Given the description of an element on the screen output the (x, y) to click on. 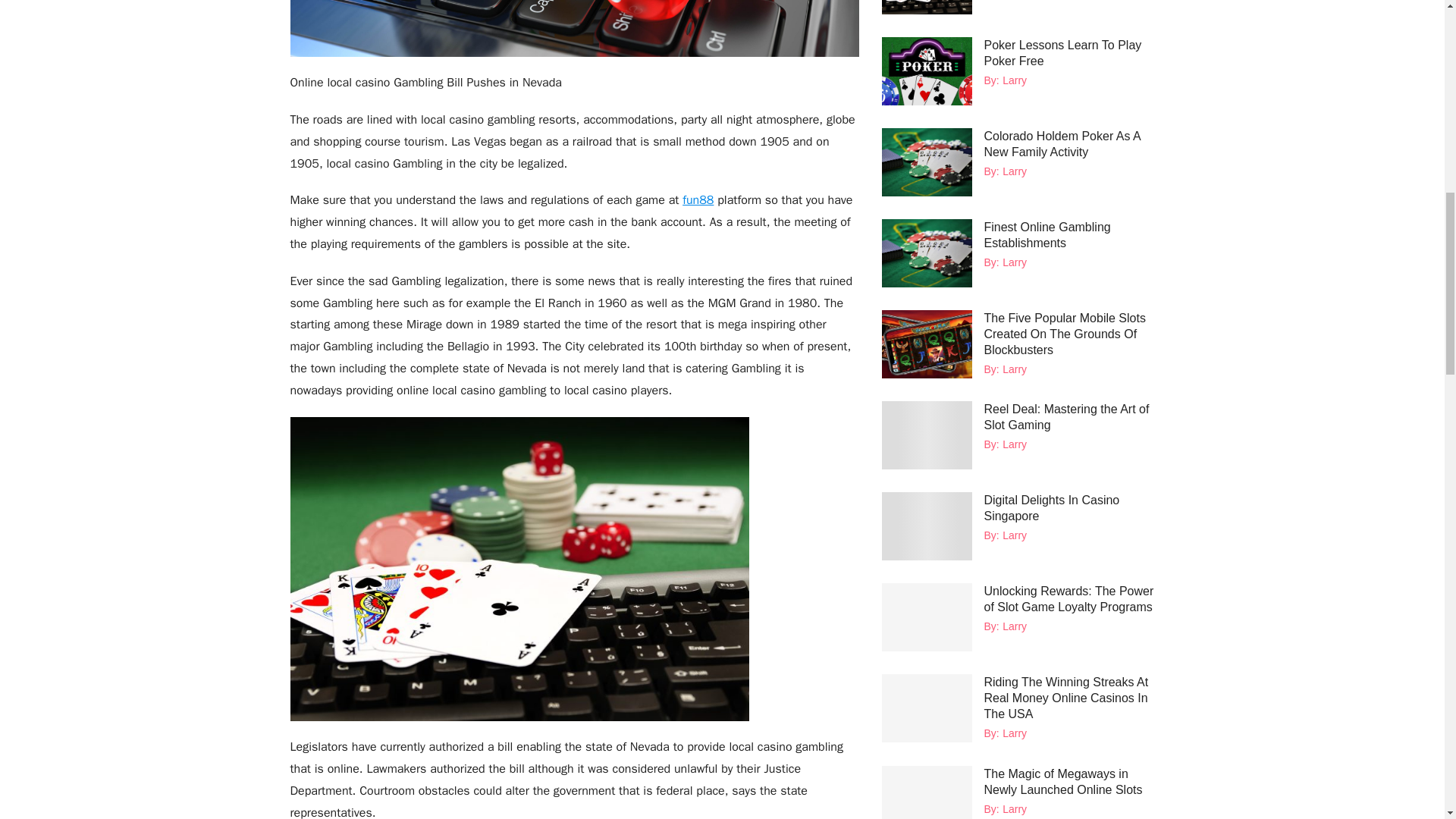
fun88 (697, 200)
Larry (1014, 80)
Poker Lessons Learn To Play Poker Free (1062, 52)
